Given the description of an element on the screen output the (x, y) to click on. 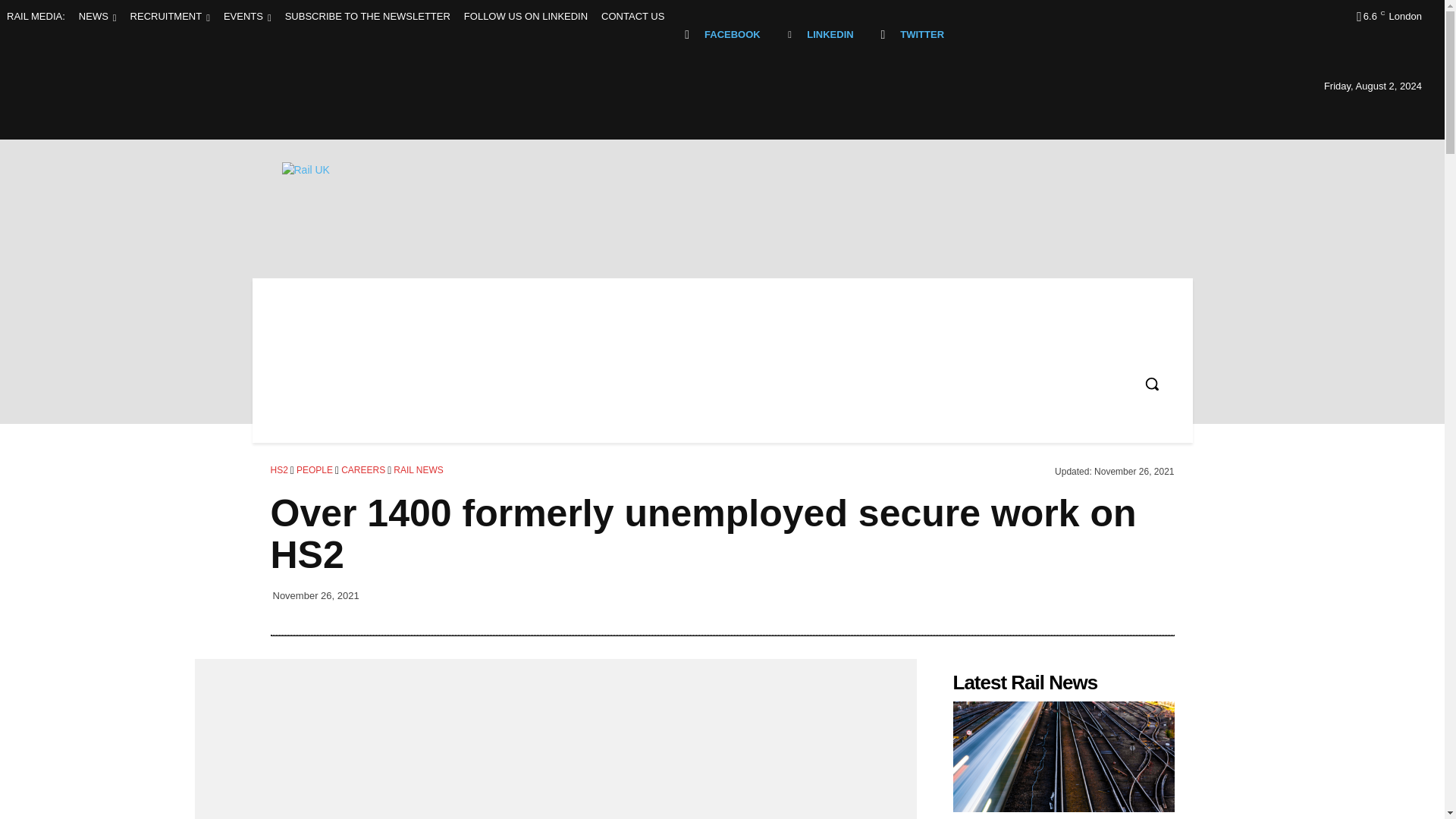
Rail UK (384, 196)
Linkedin (790, 34)
Rail UK (416, 196)
Twitter (883, 34)
Facebook (687, 34)
